Given the description of an element on the screen output the (x, y) to click on. 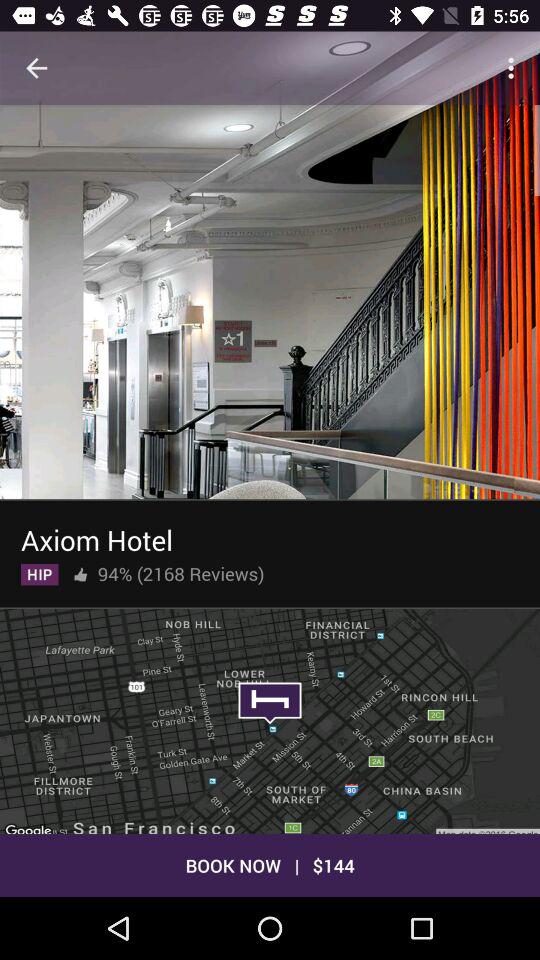
turn on the icon above the axiom hotel item (270, 300)
